Given the description of an element on the screen output the (x, y) to click on. 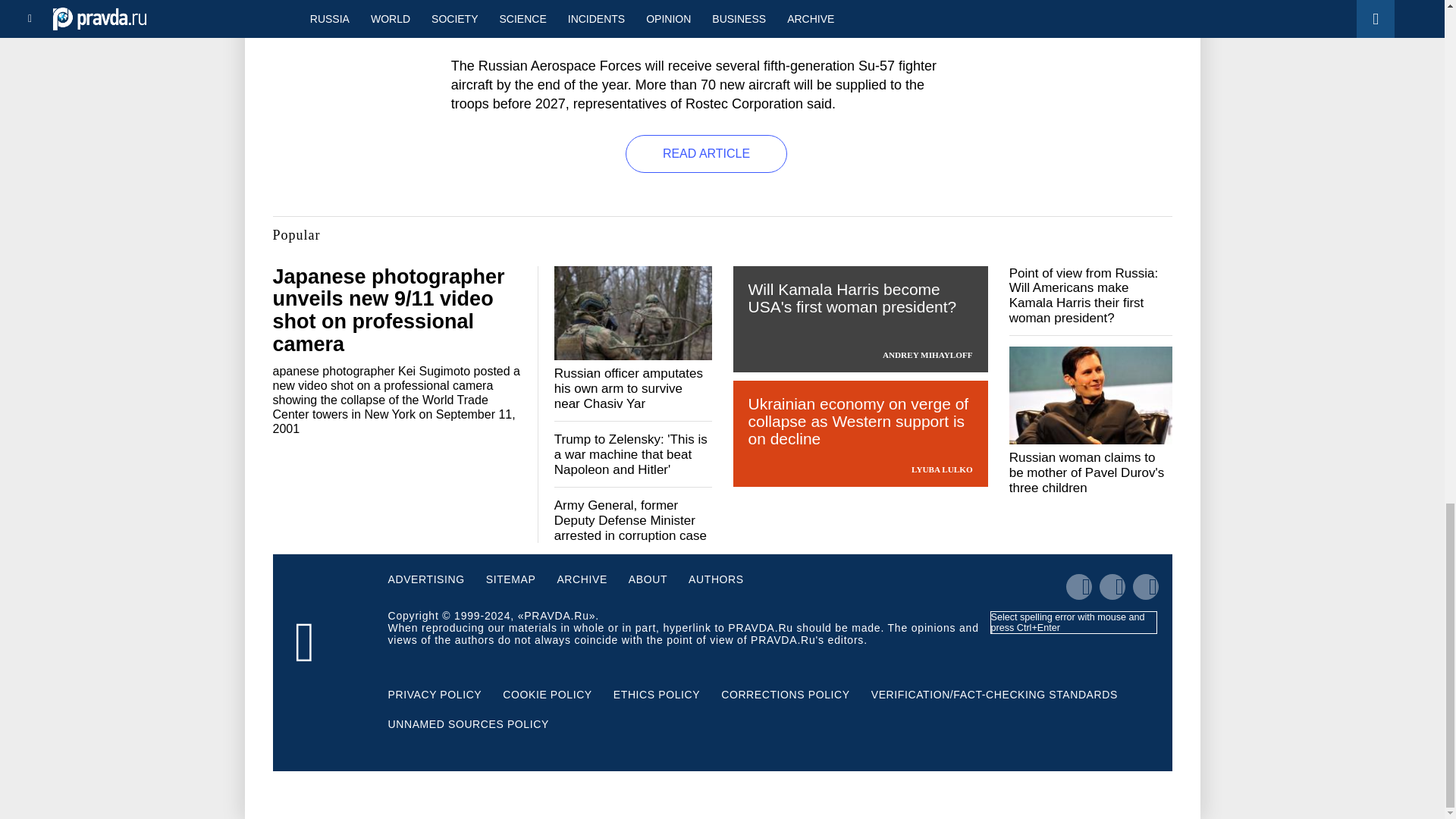
Published (486, 13)
